Given the description of an element on the screen output the (x, y) to click on. 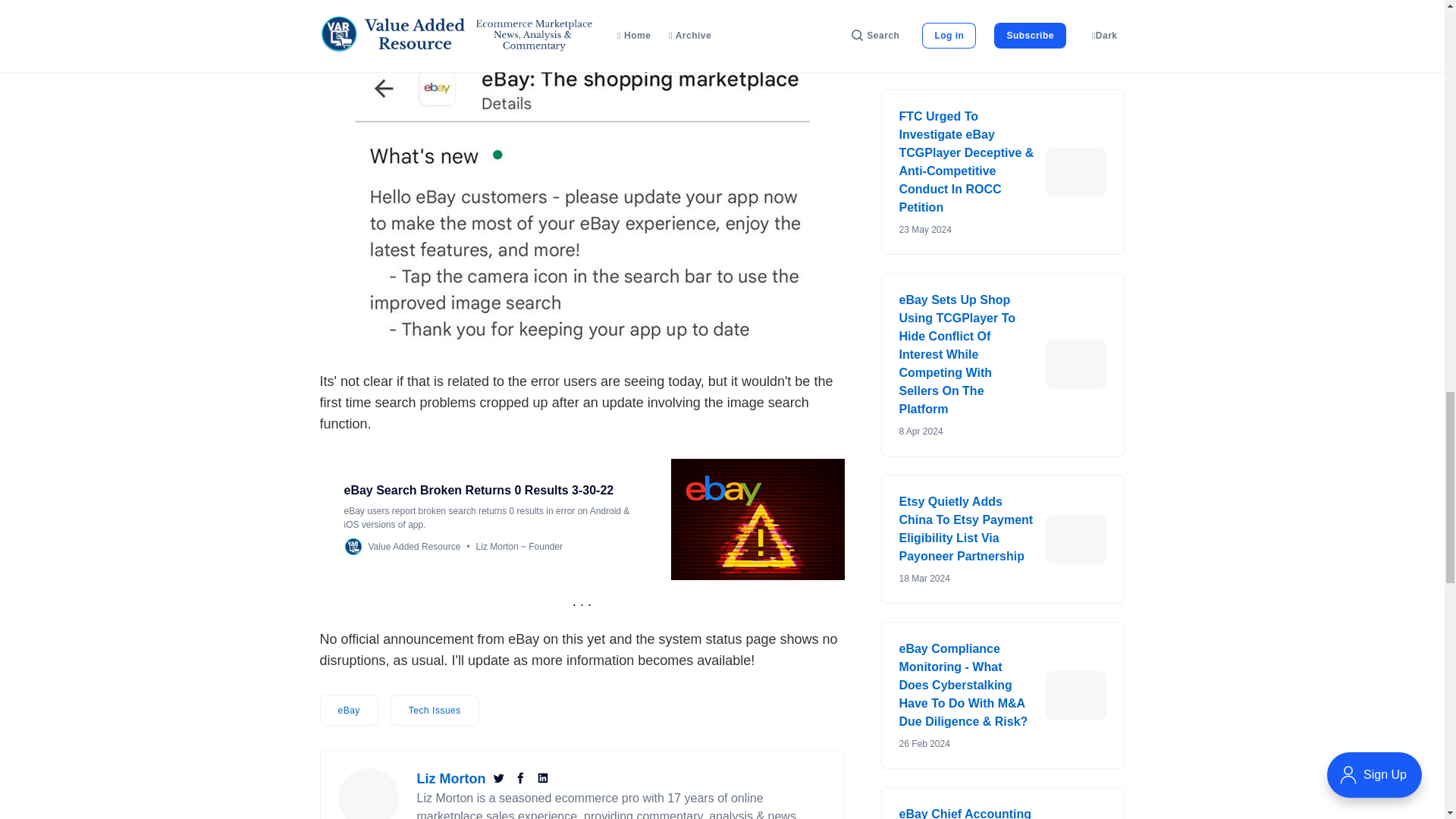
eBay (349, 710)
Tech Issues (434, 710)
Twitter (500, 778)
Liz Morton (451, 778)
